Given the description of an element on the screen output the (x, y) to click on. 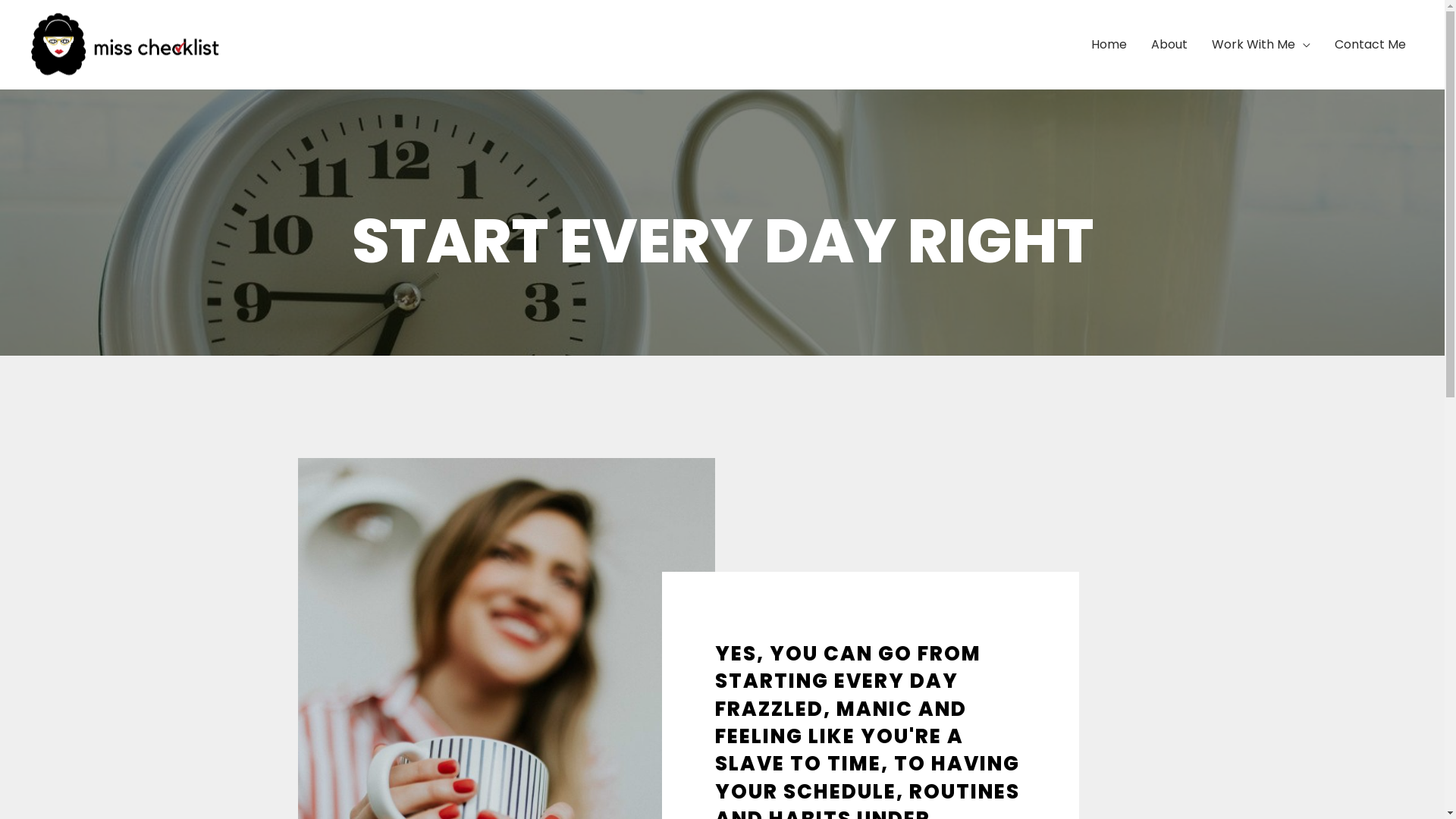
Work With Me Element type: text (1260, 44)
About Element type: text (1169, 44)
Home Element type: text (1109, 44)
Contact Me Element type: text (1370, 44)
